Given the description of an element on the screen output the (x, y) to click on. 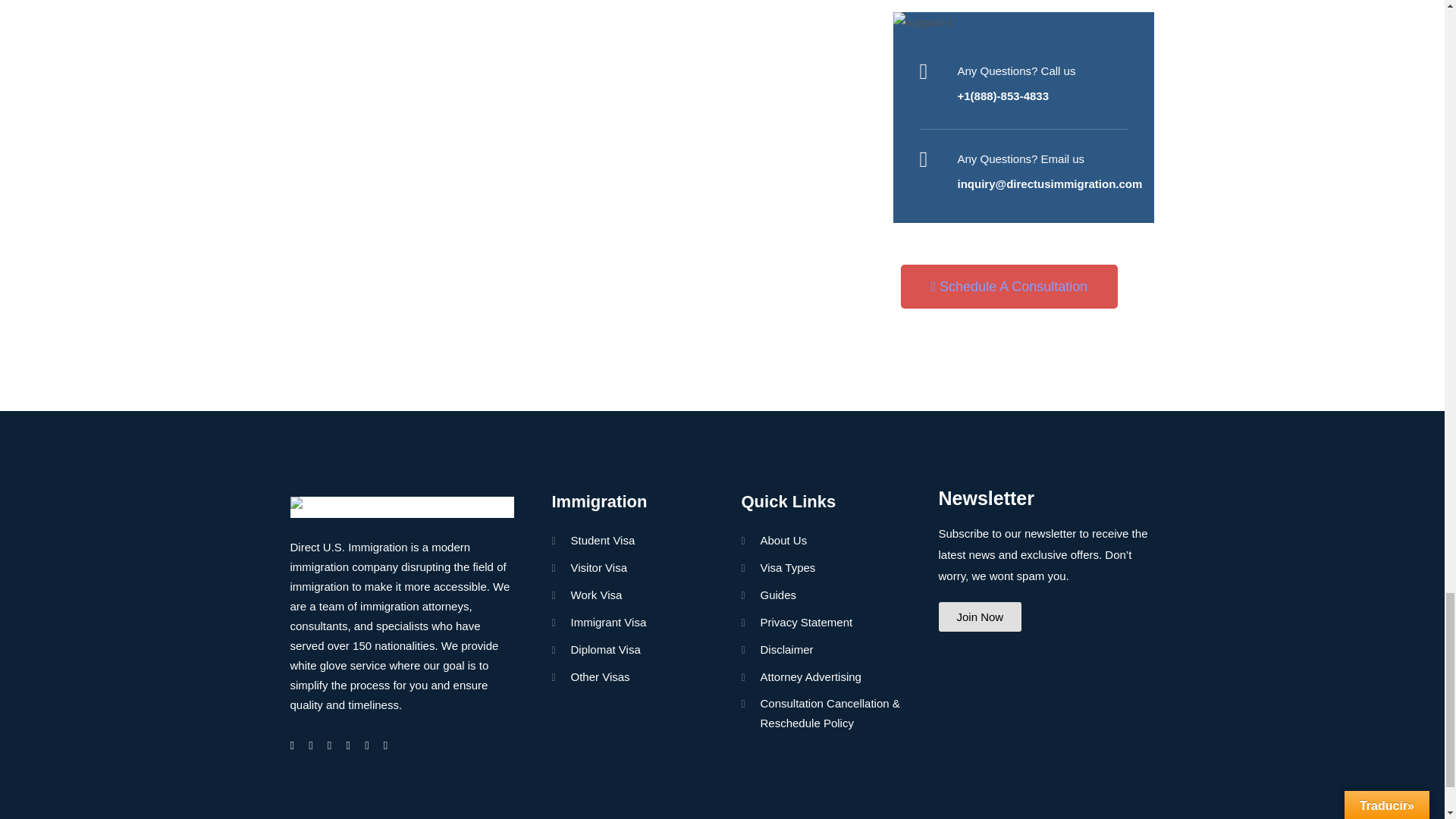
support-1 (1023, 22)
logo-white (401, 506)
